Given the description of an element on the screen output the (x, y) to click on. 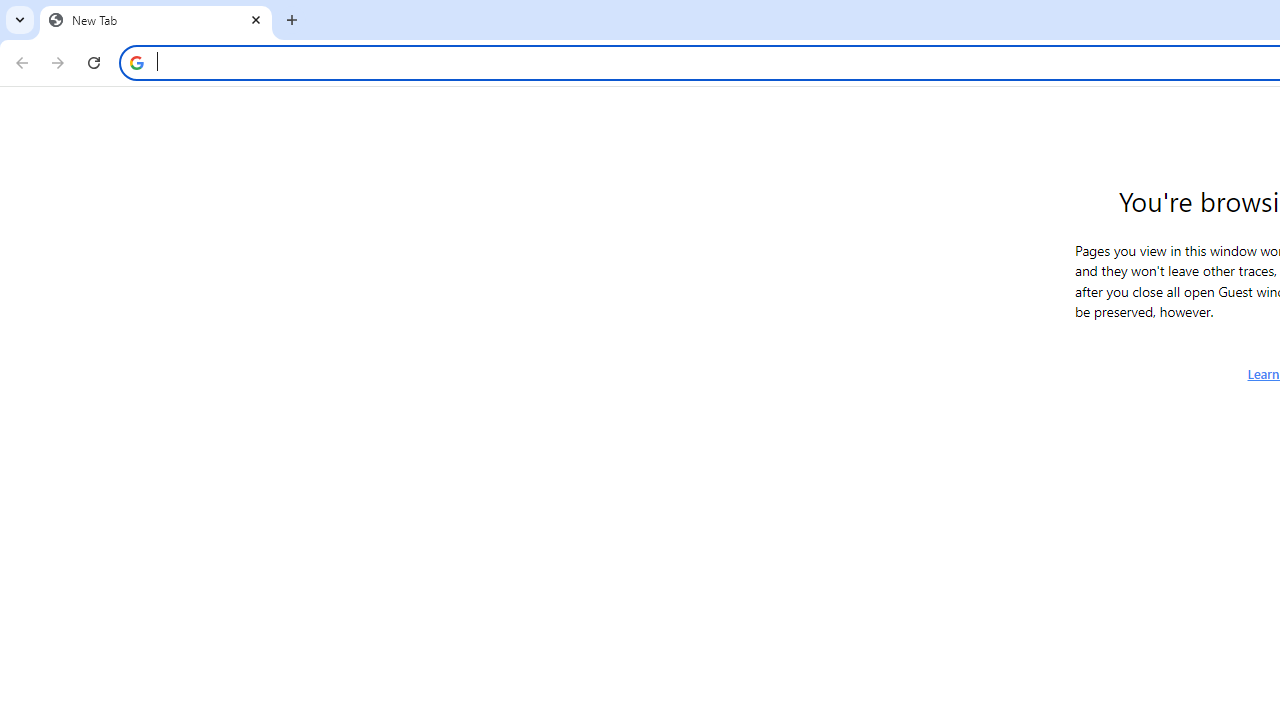
Search icon (136, 62)
New Tab (156, 20)
